Given the description of an element on the screen output the (x, y) to click on. 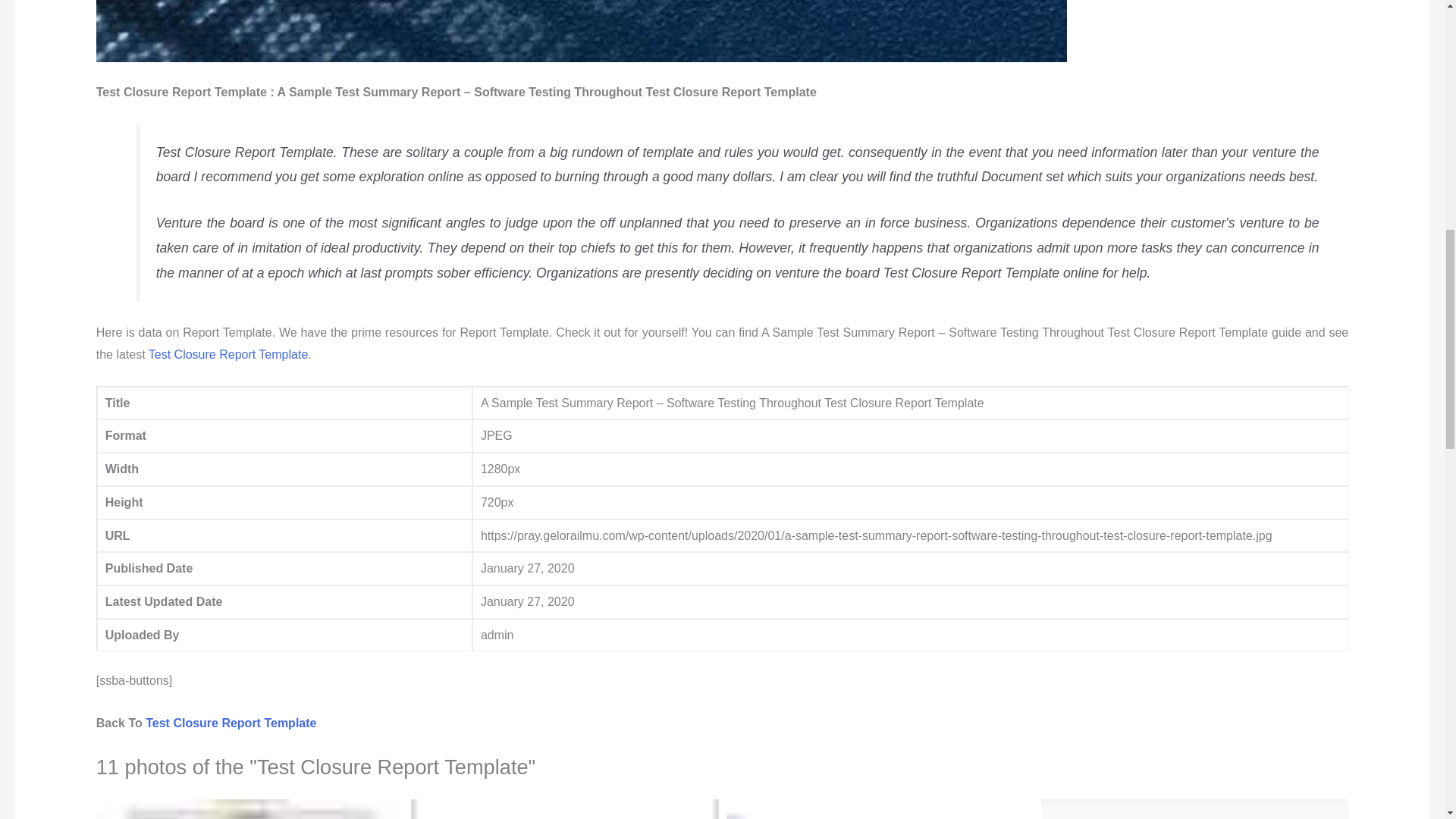
Test Closure Report Template (227, 354)
Test Closure Report Template (230, 722)
Incident Template Intended For Test Closure Report Template (1194, 809)
Test Closure Report Template (230, 722)
